Given the description of an element on the screen output the (x, y) to click on. 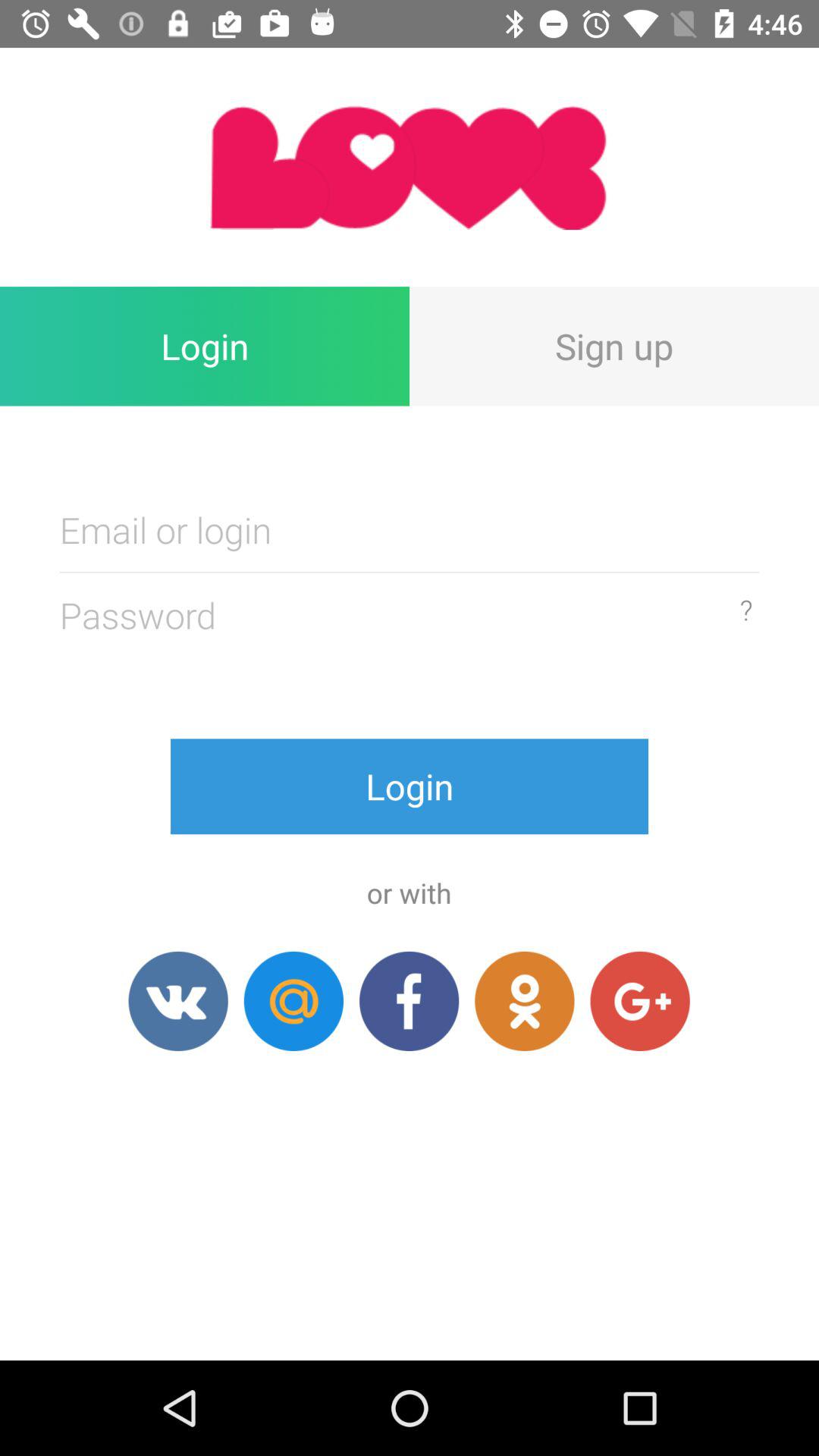
open the item at the bottom left corner (178, 1001)
